Given the description of an element on the screen output the (x, y) to click on. 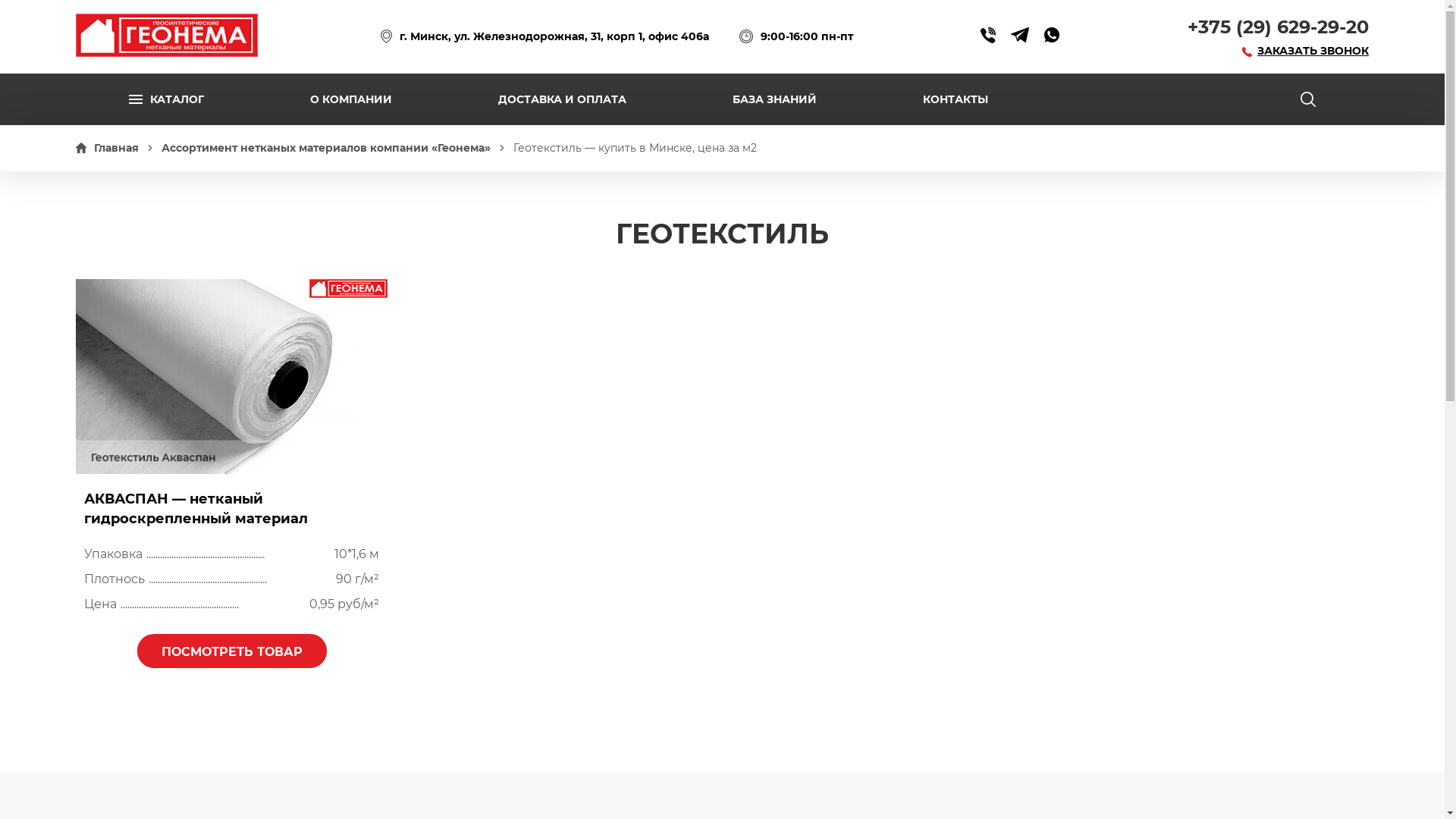
+375 (29) 629-29-20 Element type: text (1277, 26)
